Given the description of an element on the screen output the (x, y) to click on. 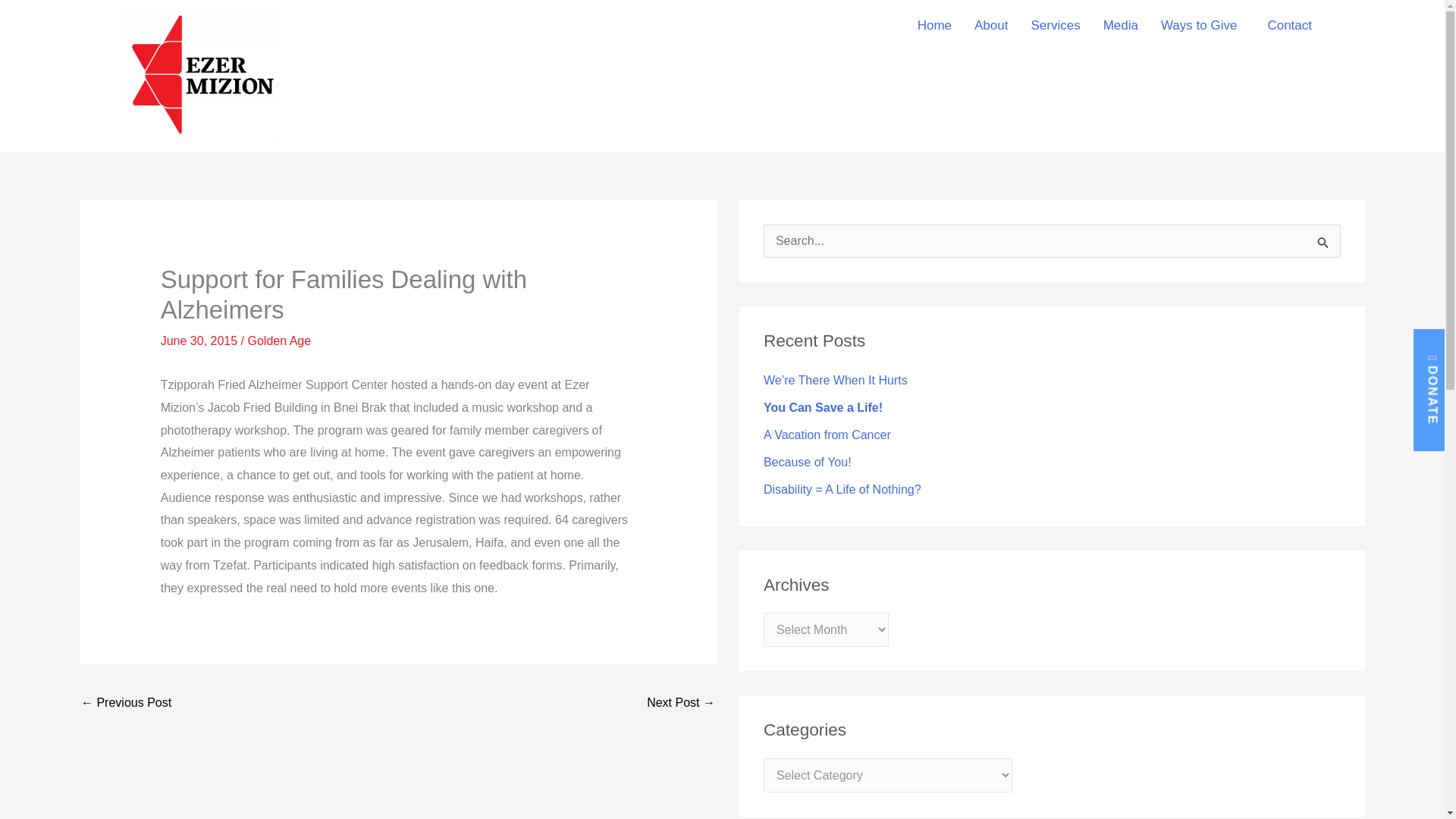
Home (933, 25)
Media (1121, 25)
He Wasn't There (126, 704)
About (990, 25)
Contact (1289, 25)
CP Won't Stop Me! (680, 704)
Because of You! (806, 461)
A Vacation from Cancer (826, 434)
Golden Age (279, 340)
Ways to Give (1202, 25)
